Given the description of an element on the screen output the (x, y) to click on. 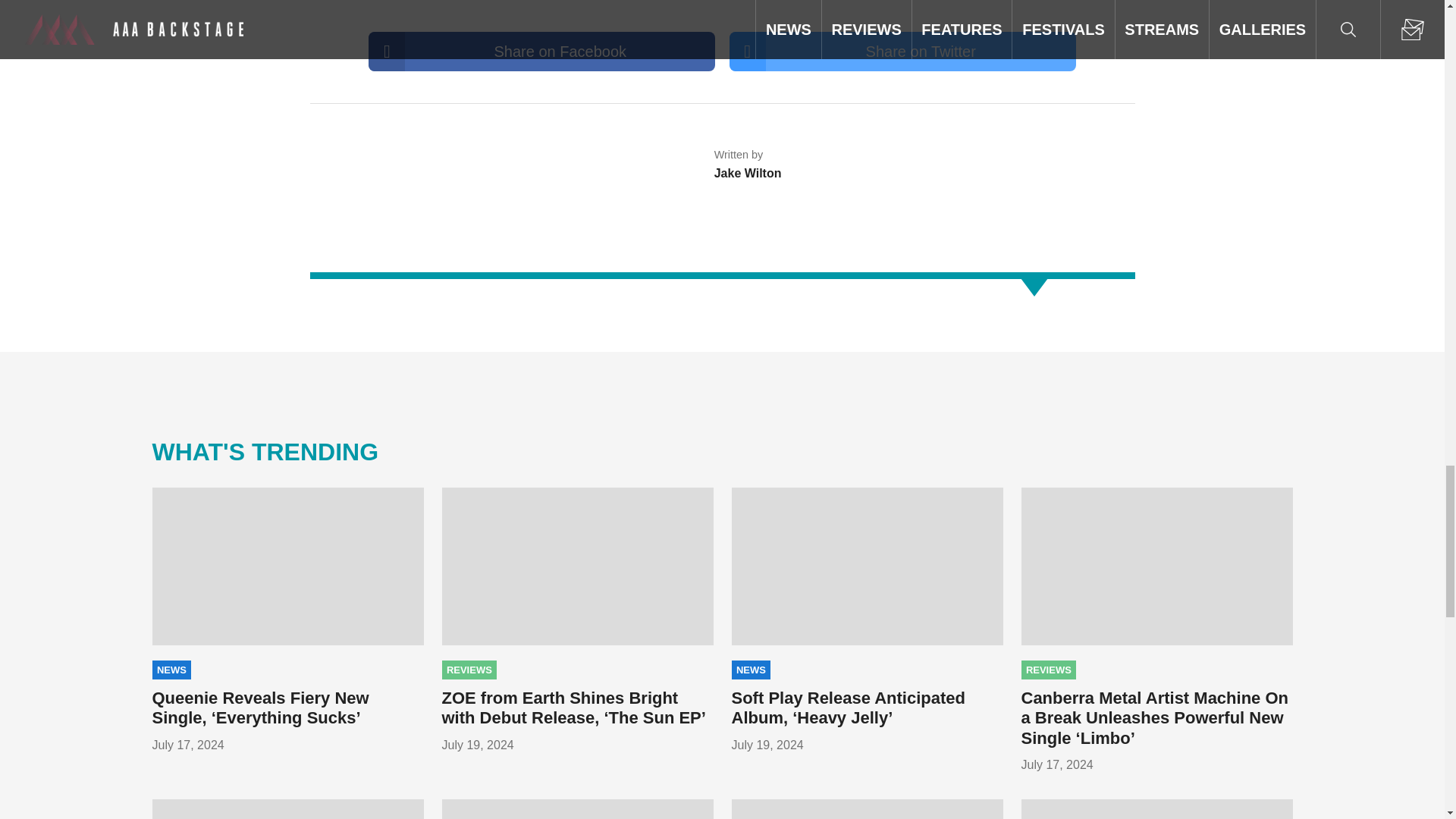
REVIEWS (468, 669)
Share on Facebook (541, 51)
Share on Twitter (902, 51)
NEWS (170, 669)
